Given the description of an element on the screen output the (x, y) to click on. 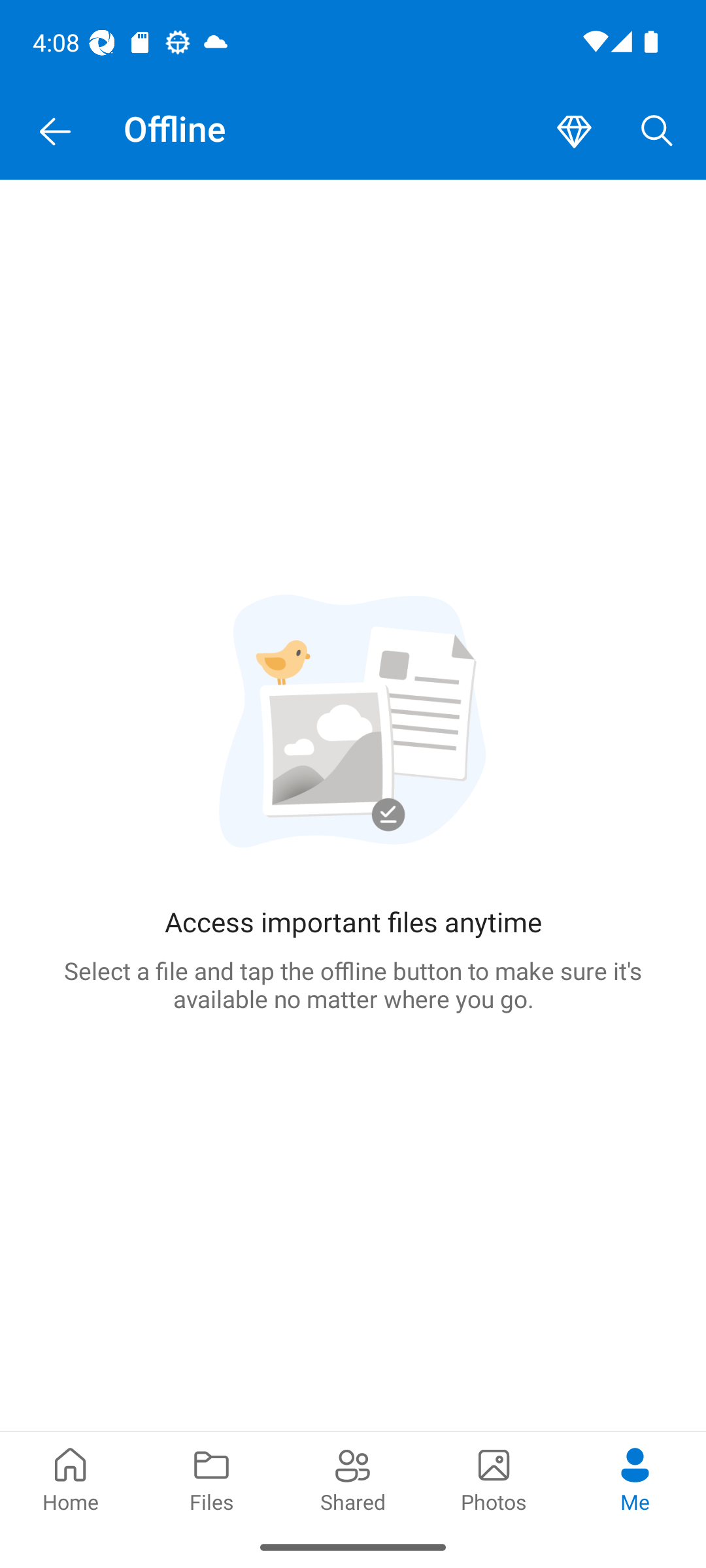
Navigate Up (55, 131)
Premium button (574, 131)
Search button (656, 131)
Home pivot Home (70, 1478)
Files pivot Files (211, 1478)
Shared pivot Shared (352, 1478)
Photos pivot Photos (493, 1478)
